Given the description of an element on the screen output the (x, y) to click on. 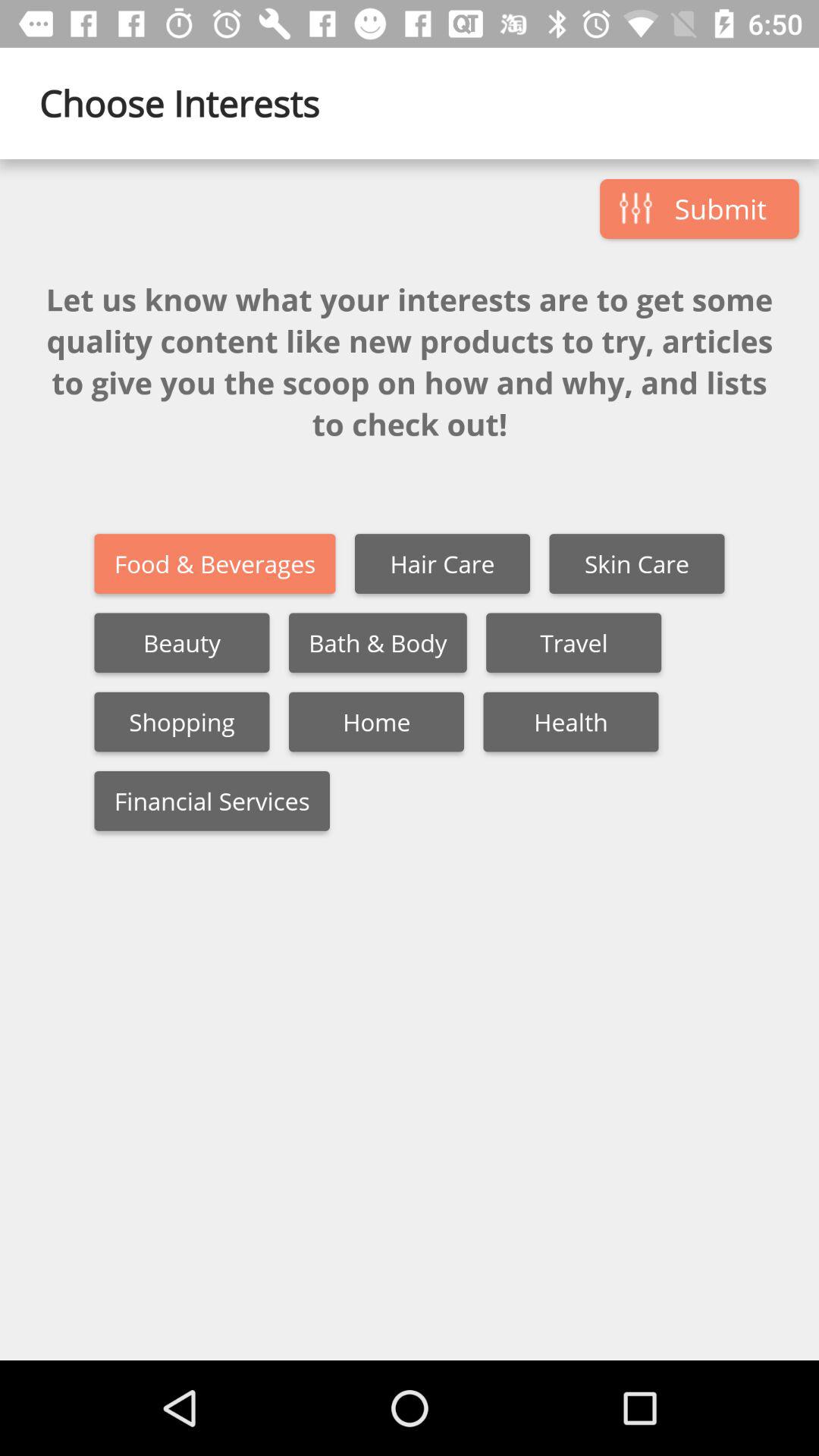
select hair care item (442, 563)
